Given the description of an element on the screen output the (x, y) to click on. 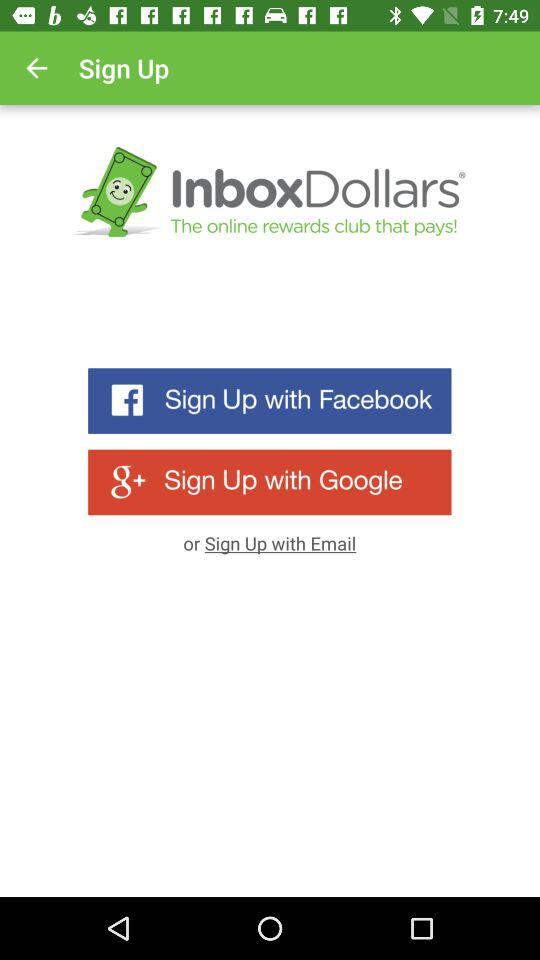
turn off app to the left of the sign up app (36, 68)
